Given the description of an element on the screen output the (x, y) to click on. 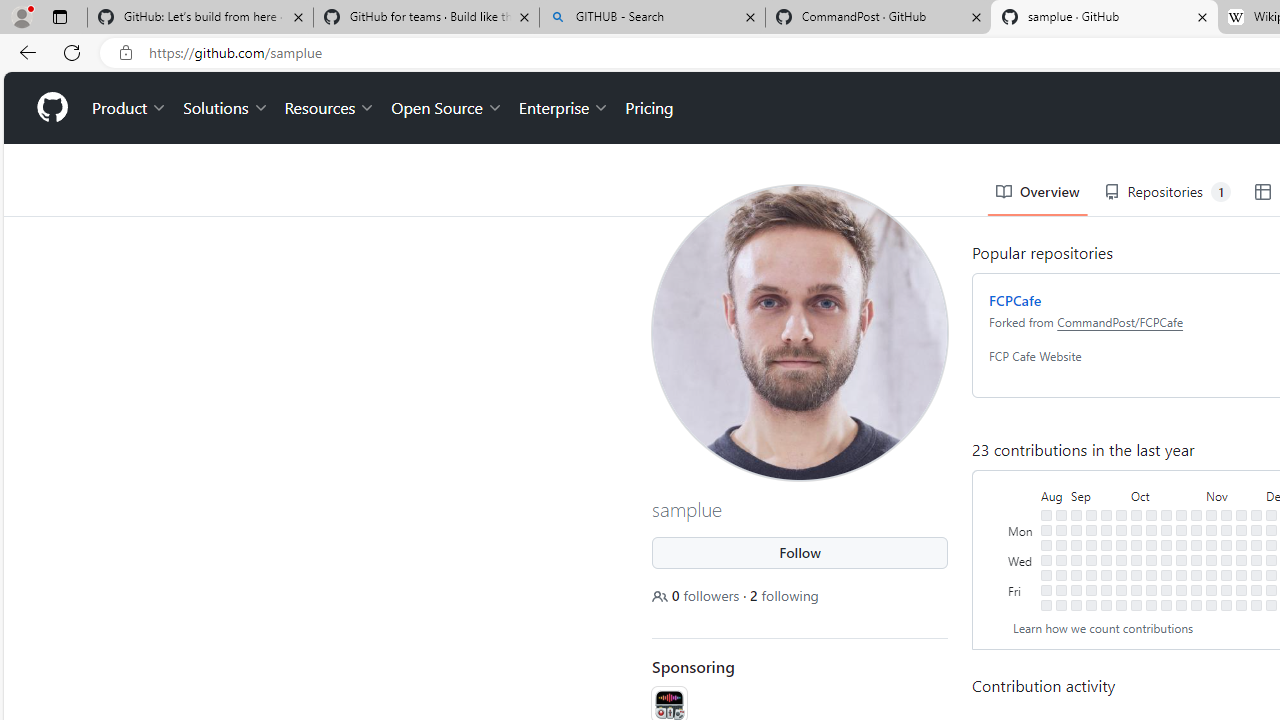
November (1233, 493)
No contributions on September 23rd. (1106, 605)
No contributions on November 21st. (1241, 544)
No contributions on November 27th. (1256, 529)
FCPCafe (1015, 300)
No contributions on November 23rd. (1241, 574)
No contributions on November 28th. (1256, 544)
No contributions on September 26th. (1121, 544)
No contributions on November 13th. (1226, 529)
Open Source (446, 107)
No contributions on September 6th. (1076, 559)
View samplue's full-sized avatar (799, 332)
No contributions on October 4th. (1136, 559)
No contributions on December 3rd. (1271, 515)
No contributions on November 1st. (1195, 559)
